Given the description of an element on the screen output the (x, y) to click on. 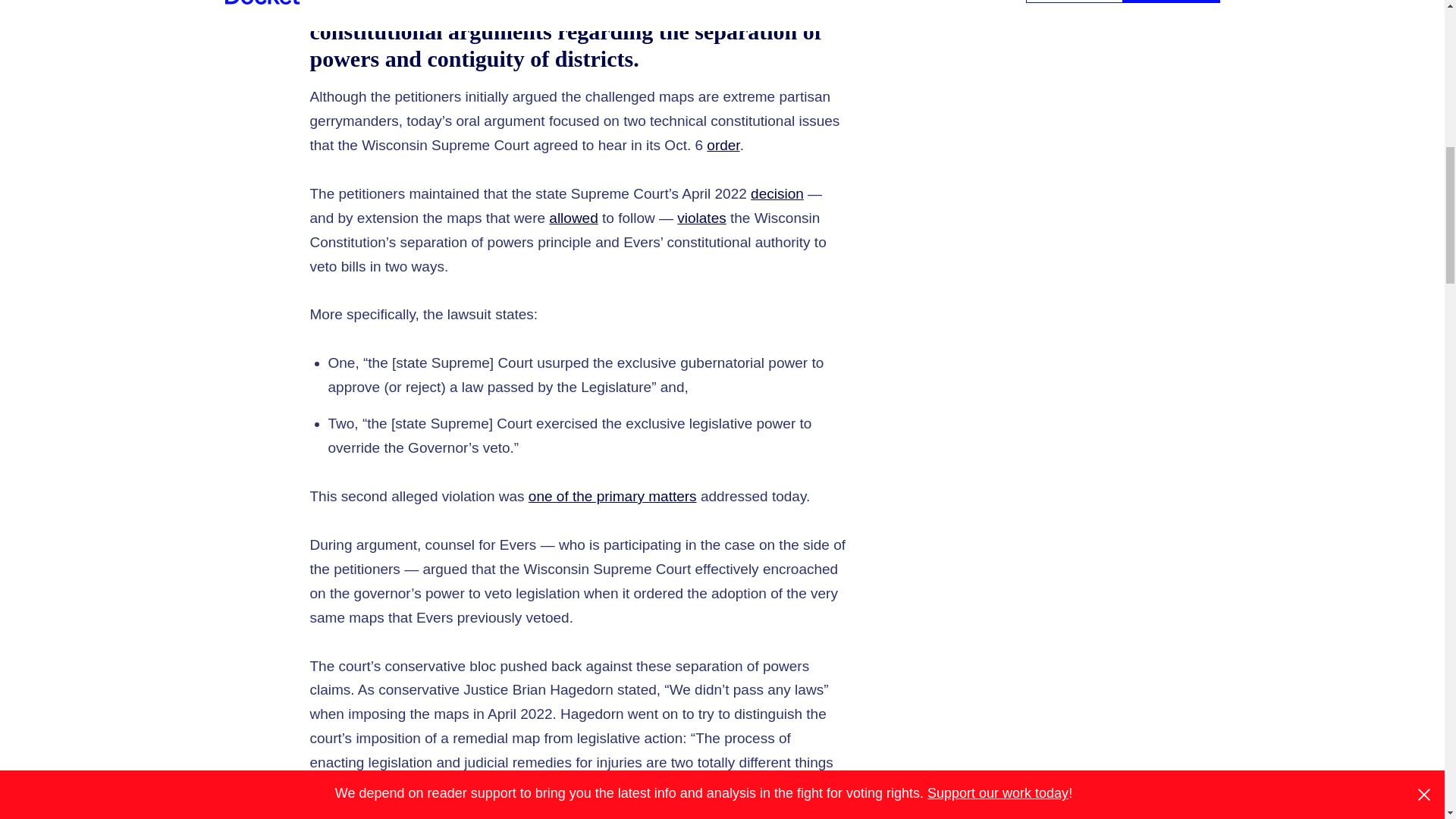
order (722, 145)
decision (777, 193)
one of the primary matters (612, 496)
allowed (572, 217)
violates (701, 217)
